Given the description of an element on the screen output the (x, y) to click on. 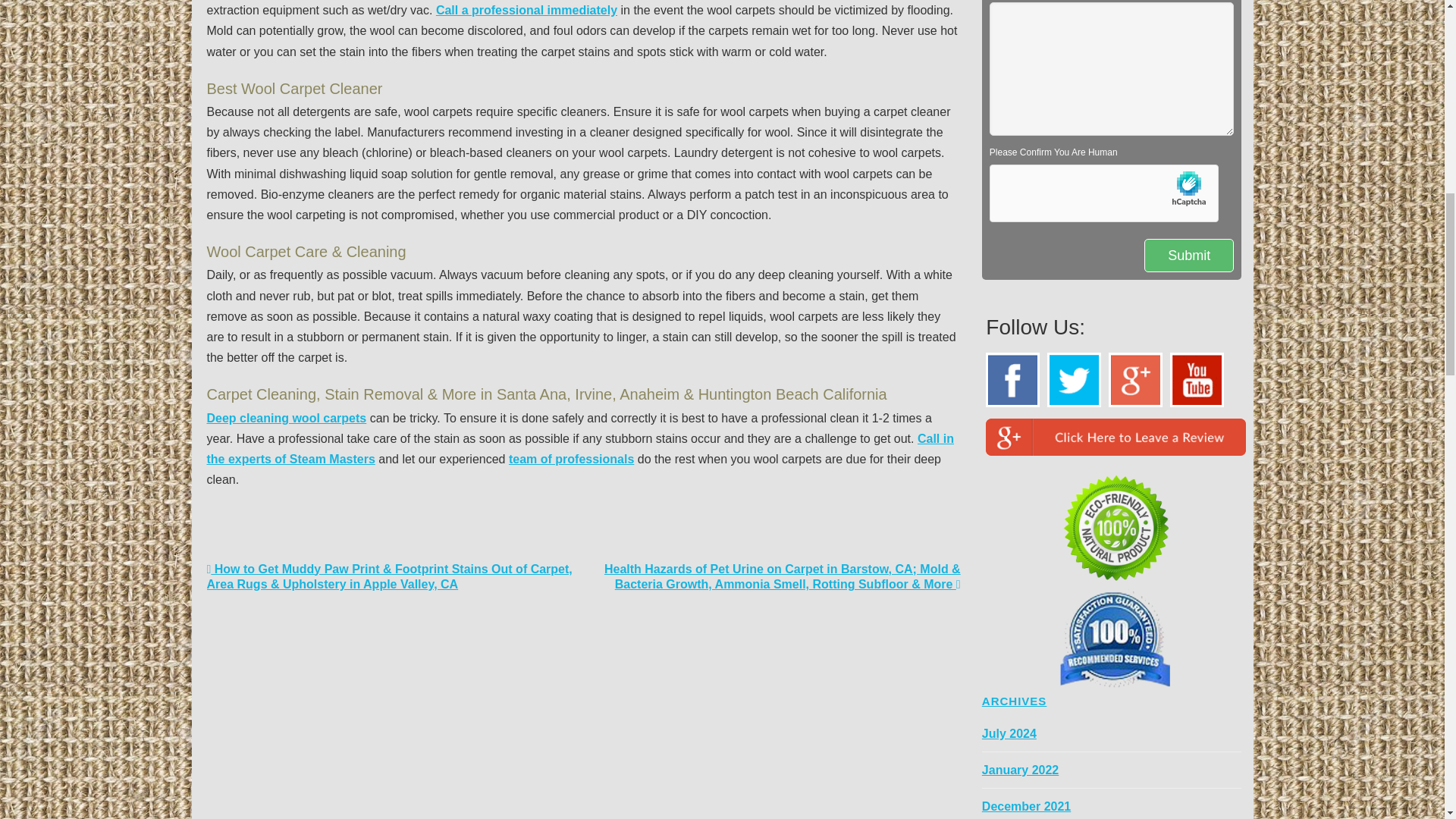
Call a professional immediately (526, 10)
Submit (1188, 255)
Call in the experts of Steam Masters (579, 449)
Deep cleaning wool carpets (286, 418)
team of professionals (570, 459)
